Given the description of an element on the screen output the (x, y) to click on. 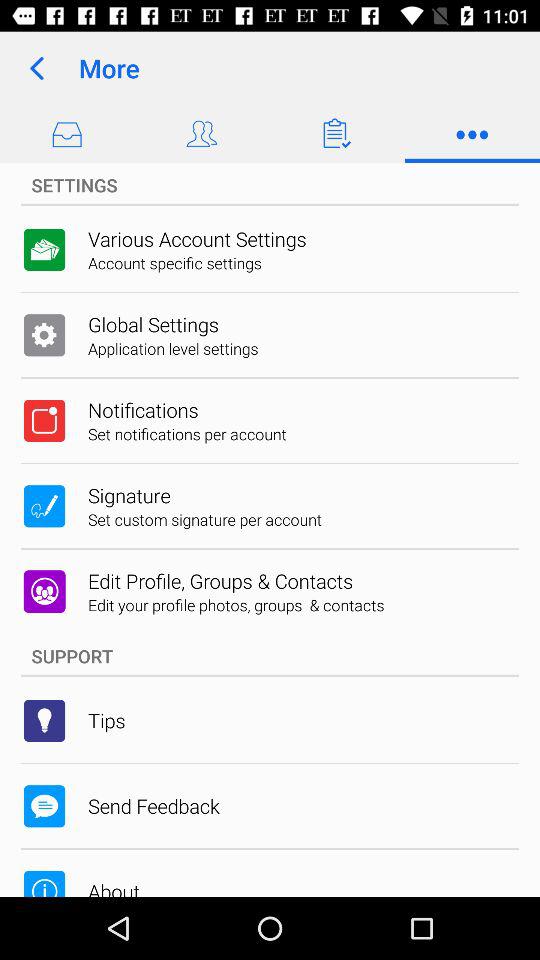
select the app below edit your profile app (270, 656)
